Given the description of an element on the screen output the (x, y) to click on. 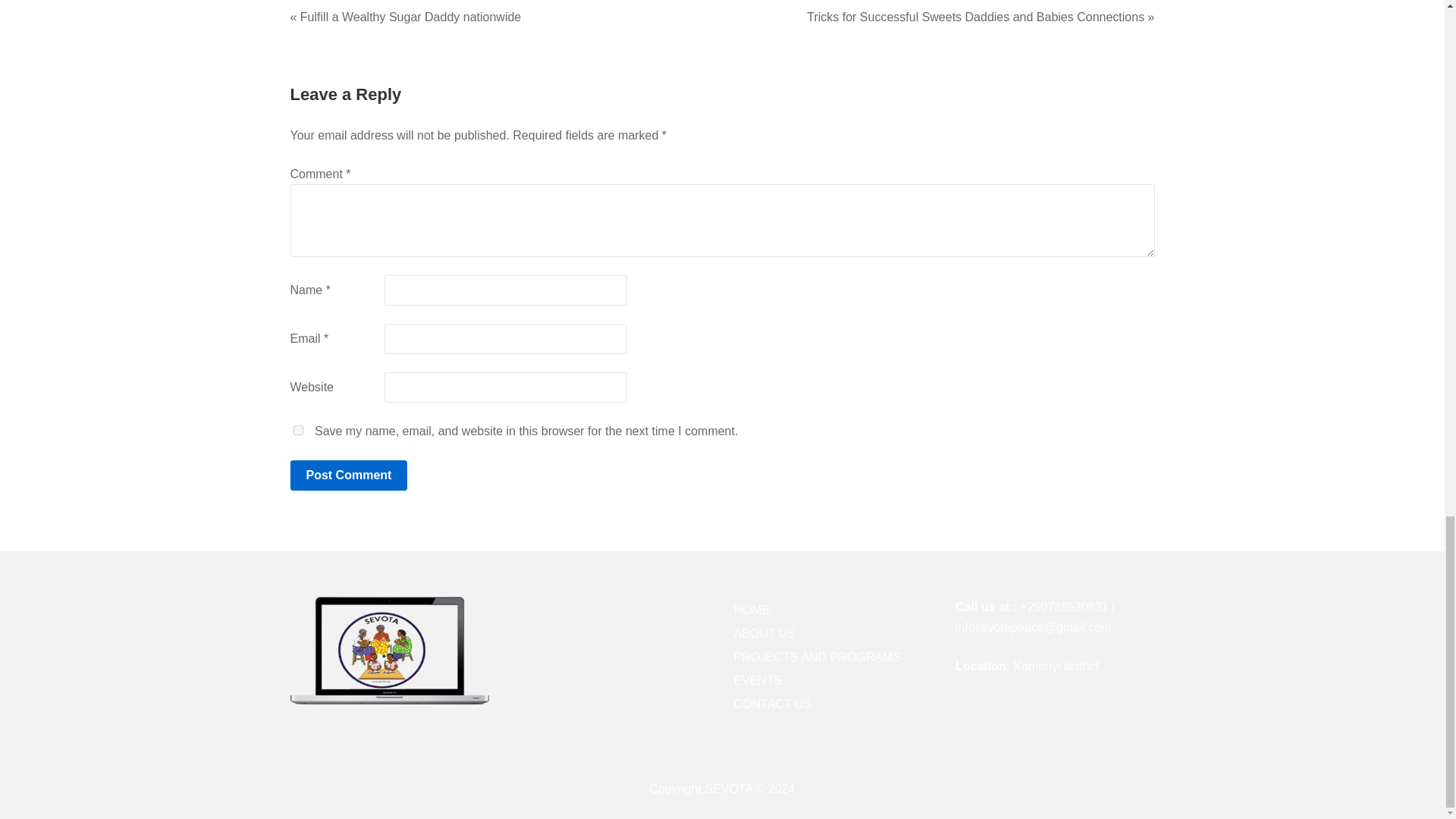
CONTACT US (772, 703)
yes (297, 429)
PROJECTS AND PROGRAMS (817, 656)
EVENTS (758, 680)
HOME (751, 609)
Post Comment (348, 475)
ABOUT US (764, 633)
Post Comment (348, 475)
